Given the description of an element on the screen output the (x, y) to click on. 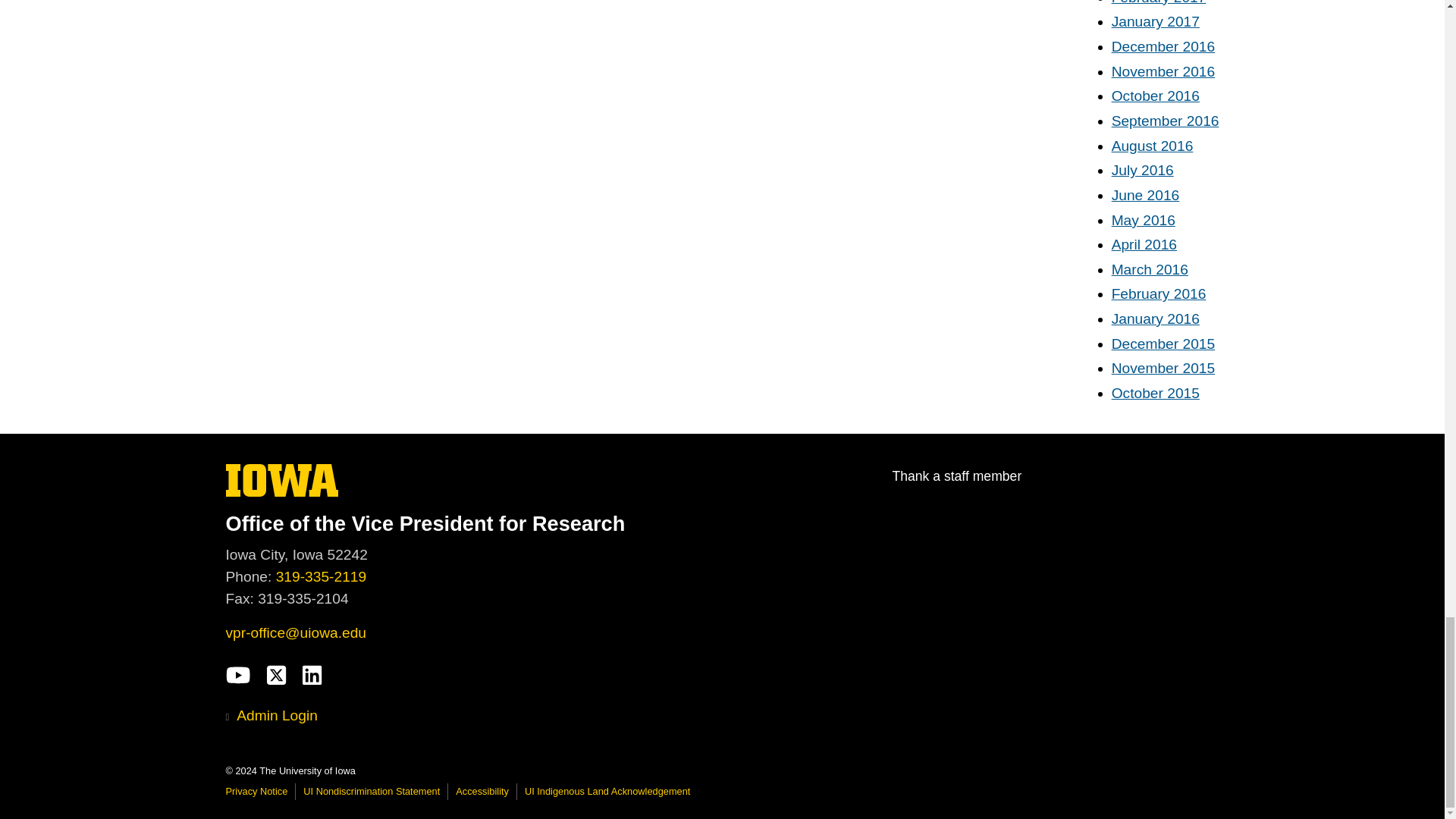
OVPR main office email (295, 632)
University of Iowa (282, 480)
